Given the description of an element on the screen output the (x, y) to click on. 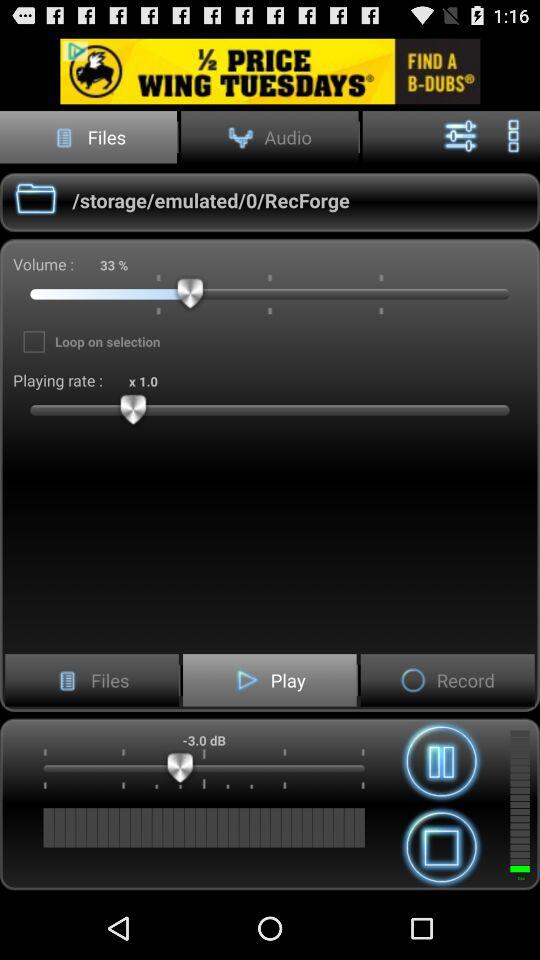
advertisement area (270, 70)
